Given the description of an element on the screen output the (x, y) to click on. 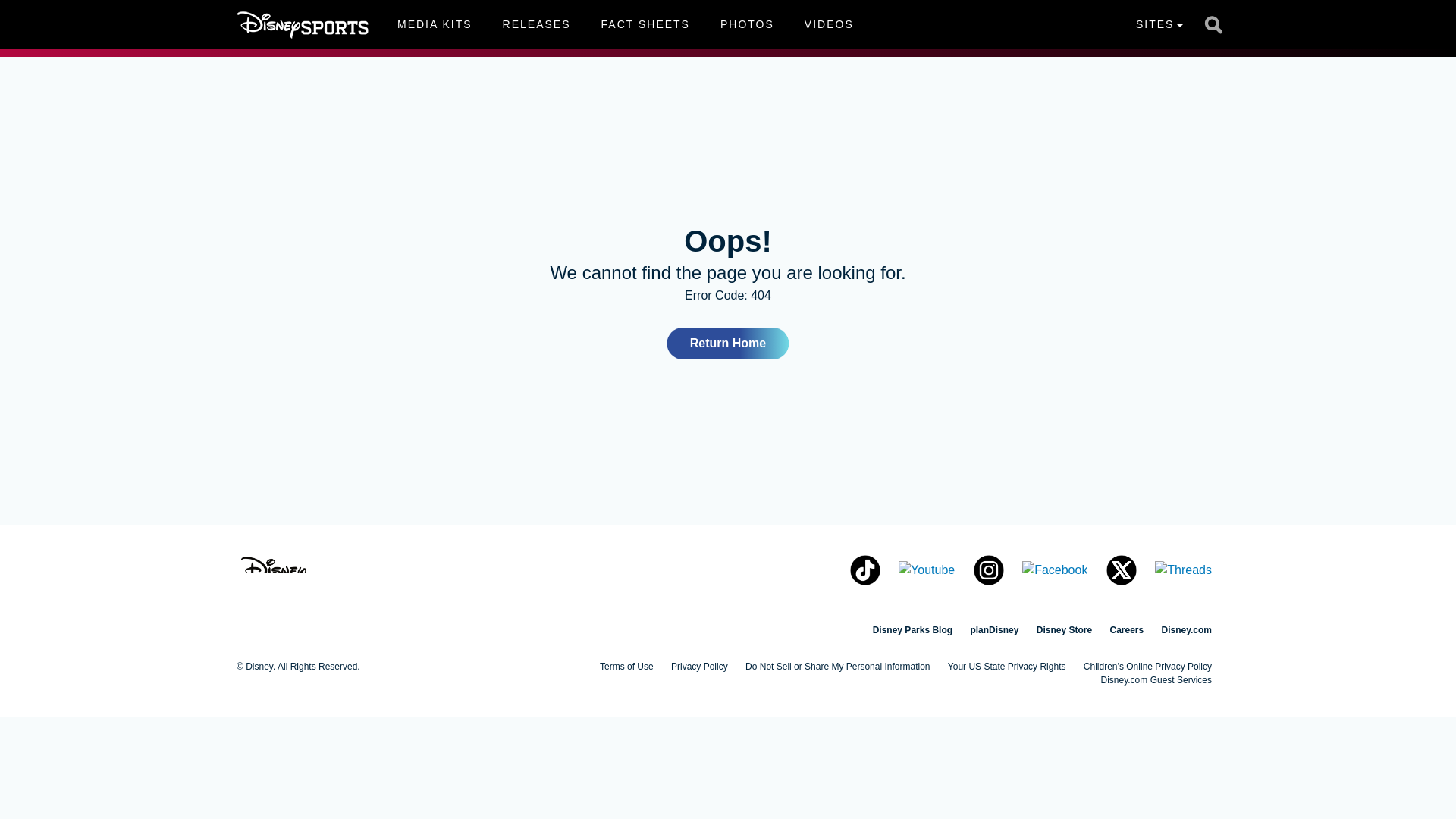
FACT SHEETS (645, 24)
Disney Store (1064, 629)
Disney.com (625, 24)
VIDEOS (1186, 629)
SITES (828, 24)
RELEASES (1159, 24)
MEDIA KITS (537, 24)
Careers (434, 24)
planDisney (1125, 629)
Return Home (993, 629)
Skip to content (727, 343)
Disney Parks Blog (40, 8)
PHOTOS (912, 629)
